Given the description of an element on the screen output the (x, y) to click on. 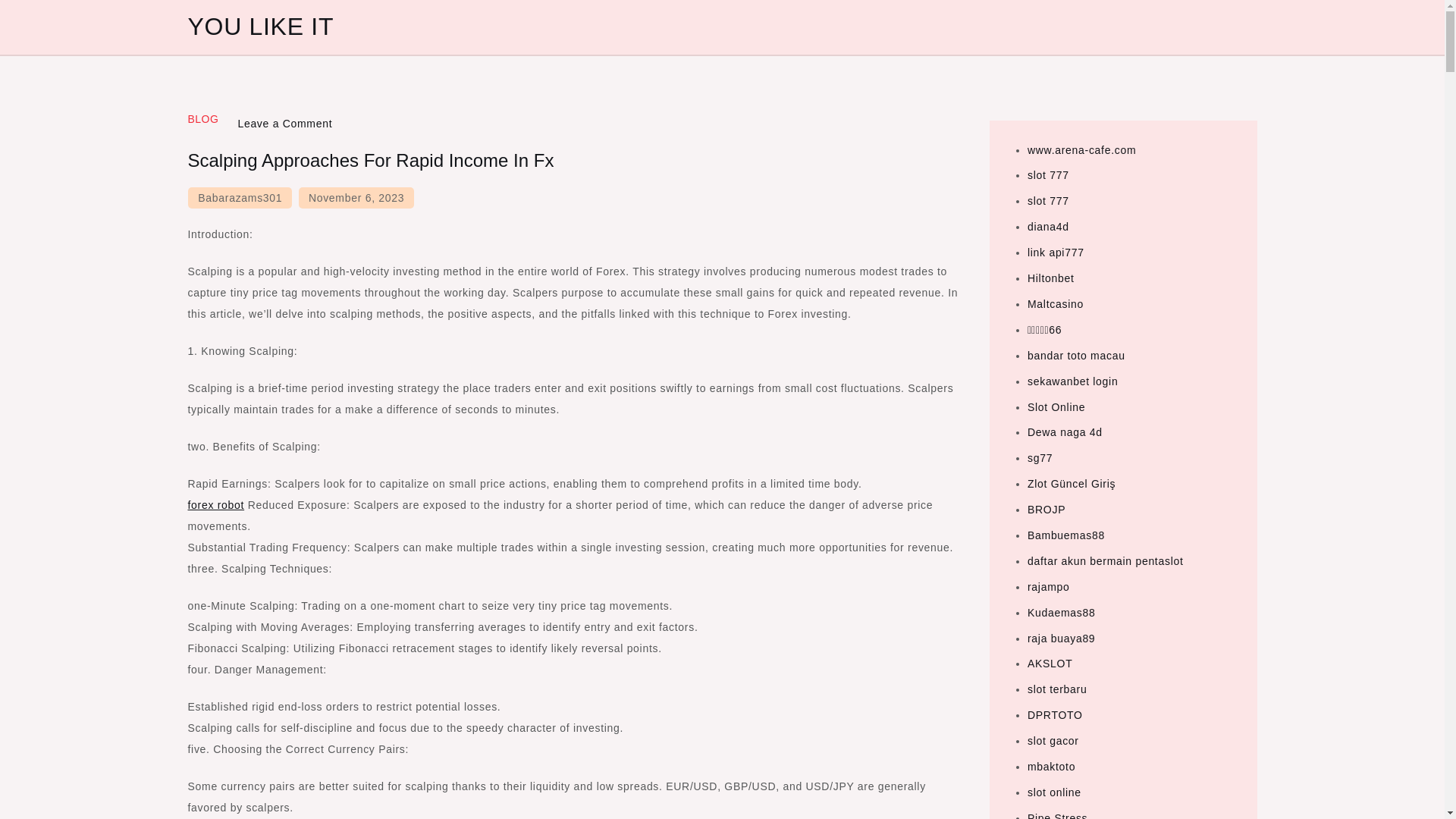
sekawanbet login (1072, 381)
Slot Online (1055, 406)
November 6, 2023 (355, 197)
sg77 (1039, 458)
BLOG (203, 119)
slot 777 (1047, 200)
link api777 (1055, 252)
forex robot (215, 504)
rajampo (1047, 586)
Dewa naga 4d (1064, 431)
bandar toto macau (1076, 355)
Hiltonbet (1050, 277)
www.arena-cafe.com (1081, 150)
BROJP (1046, 509)
